Given the description of an element on the screen output the (x, y) to click on. 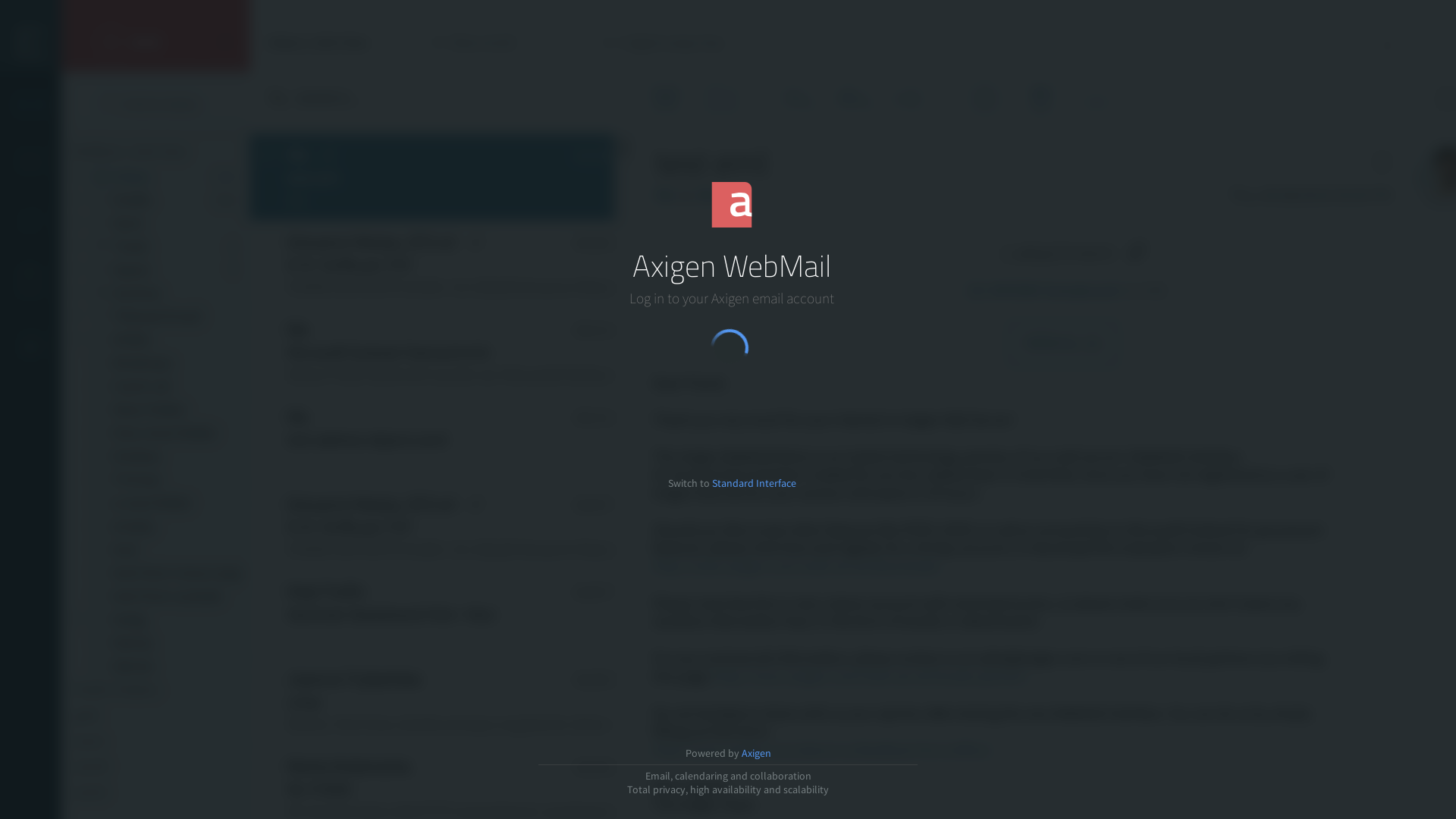
Axigen Element type: text (756, 752)
Standard Interface Element type: text (753, 482)
